Given the description of an element on the screen output the (x, y) to click on. 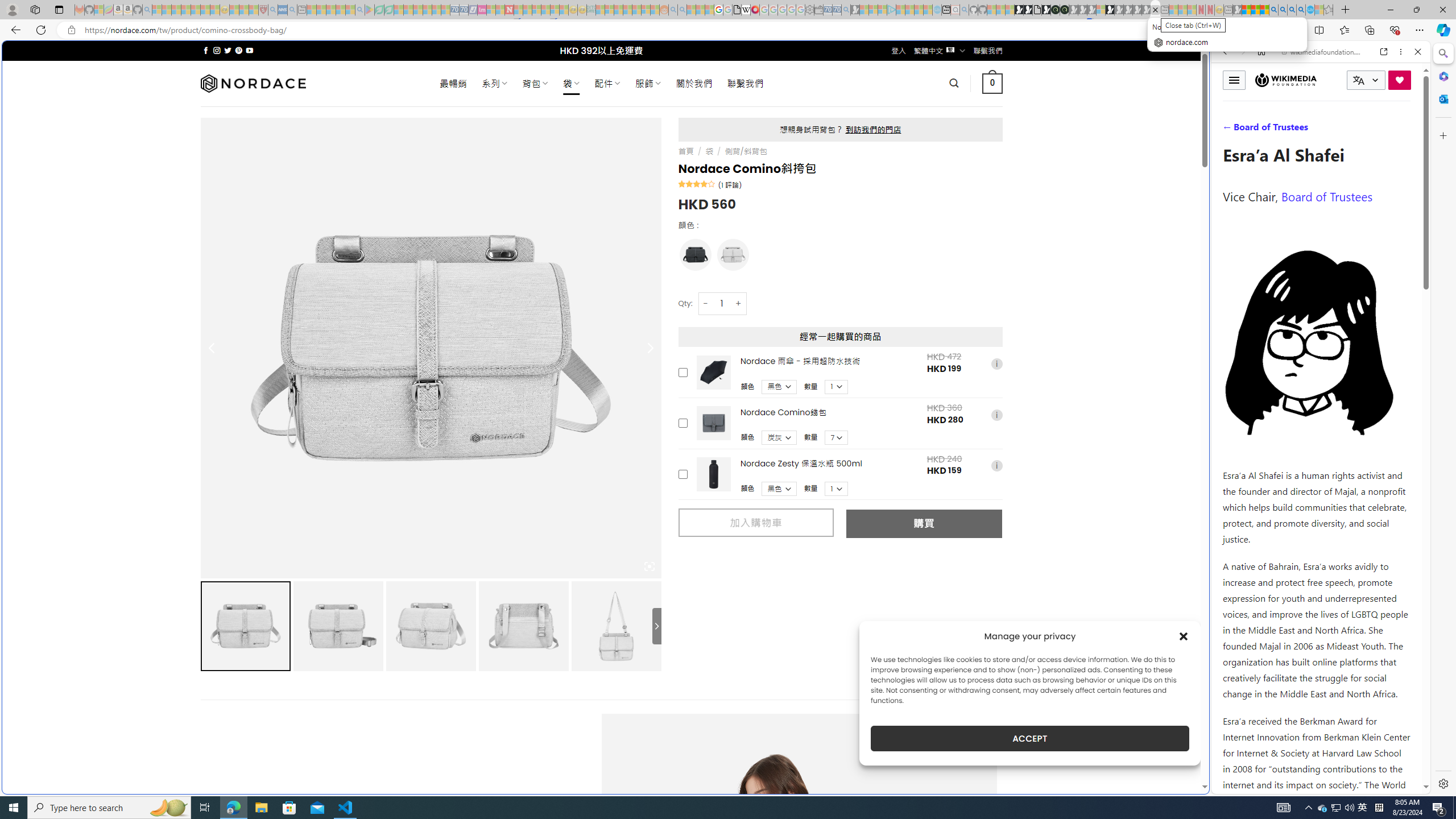
utah sues federal government - Search (922, 389)
Play Free Online Games | Games from Microsoft Start (1018, 9)
Workspaces (34, 9)
Robert H. Shmerling, MD - Harvard Health - Sleeping (263, 9)
Wikimedia Foundation (1286, 79)
MediaWiki (754, 9)
